Given the description of an element on the screen output the (x, y) to click on. 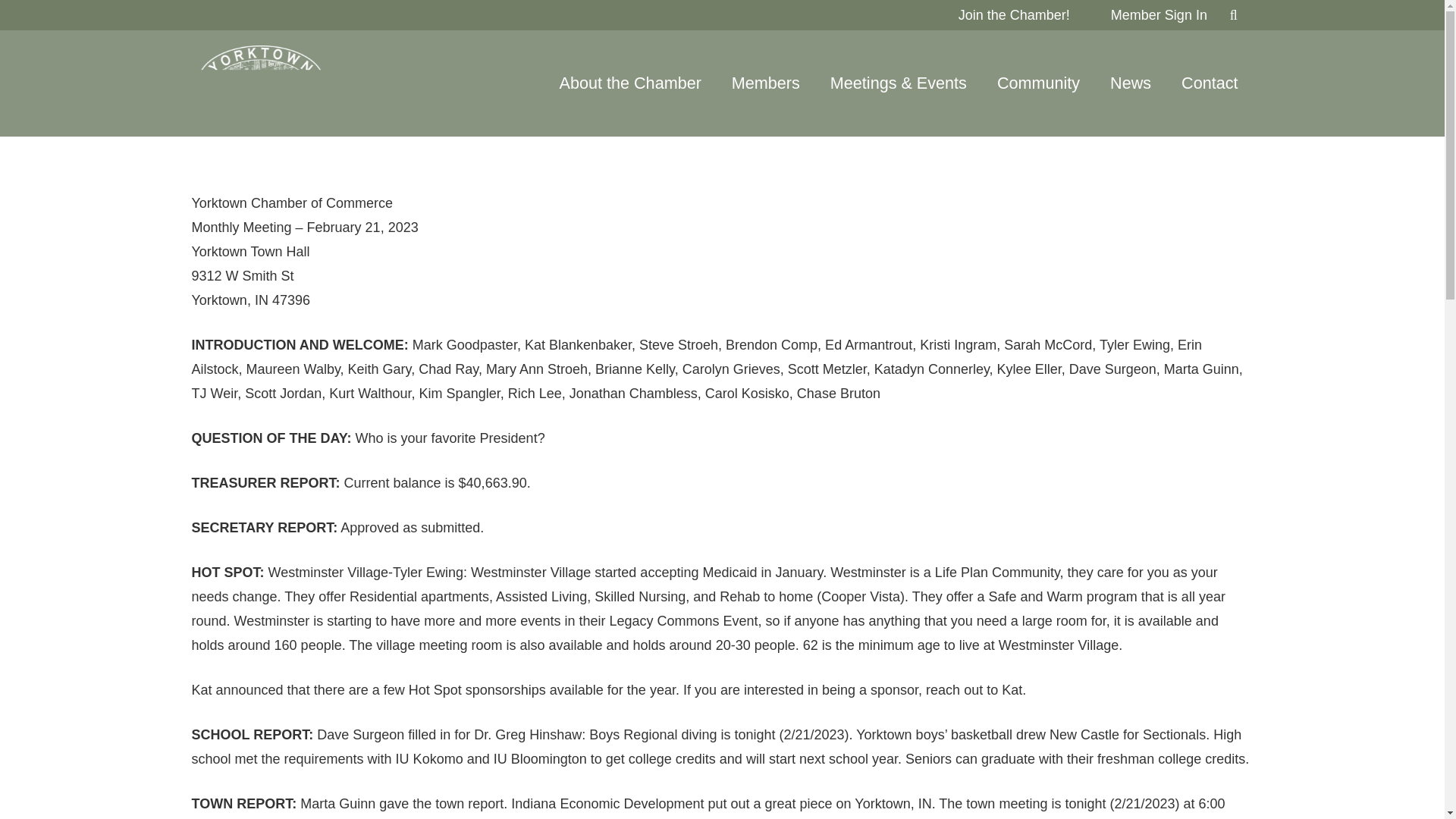
Member Sign In (1158, 14)
Community (1037, 83)
About the Chamber (630, 83)
Join the Chamber! (1014, 14)
Members (765, 83)
